Given the description of an element on the screen output the (x, y) to click on. 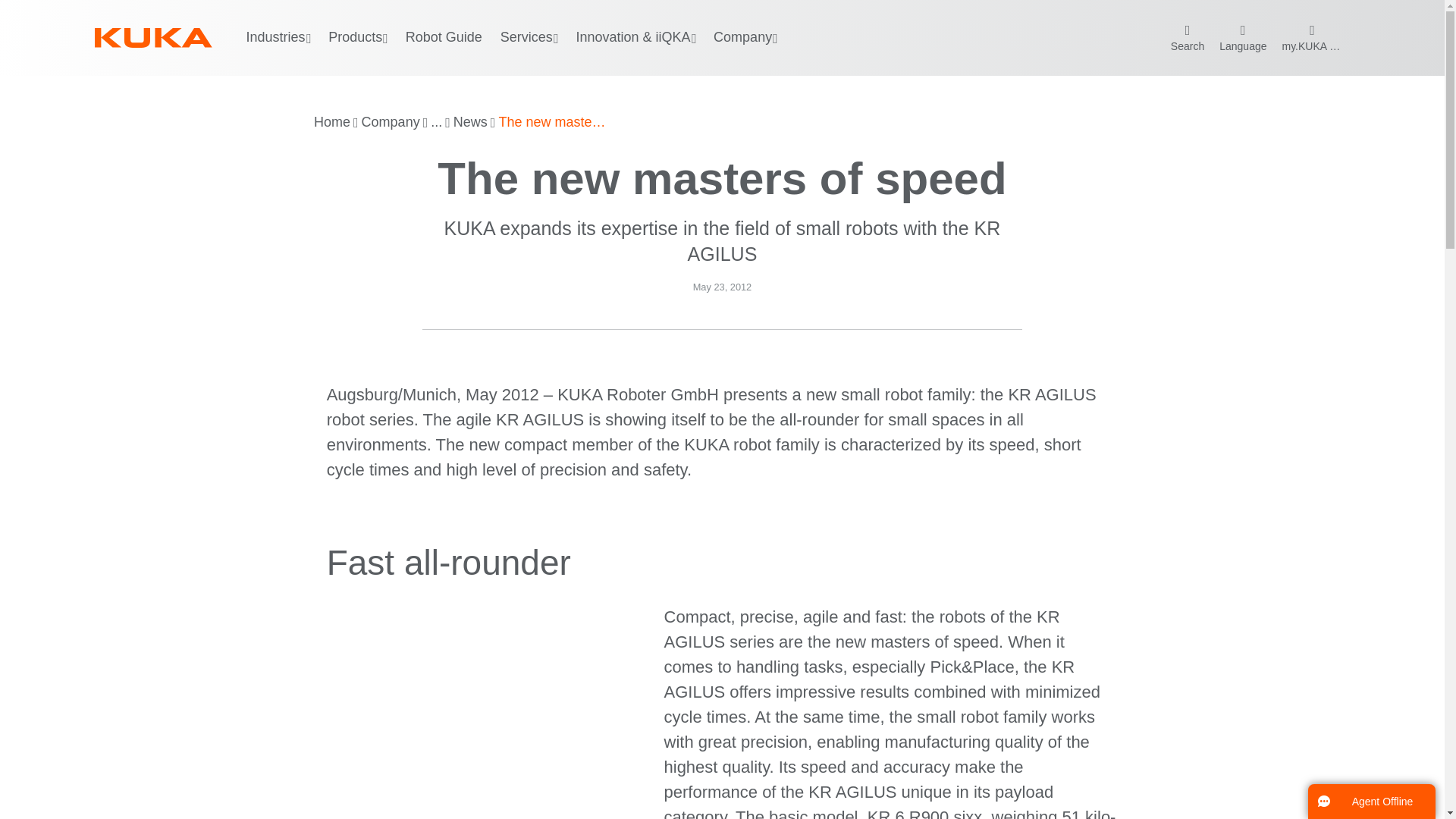
The new masters of speed (551, 122)
Company (390, 122)
Home (332, 122)
News (469, 122)
